Given the description of an element on the screen output the (x, y) to click on. 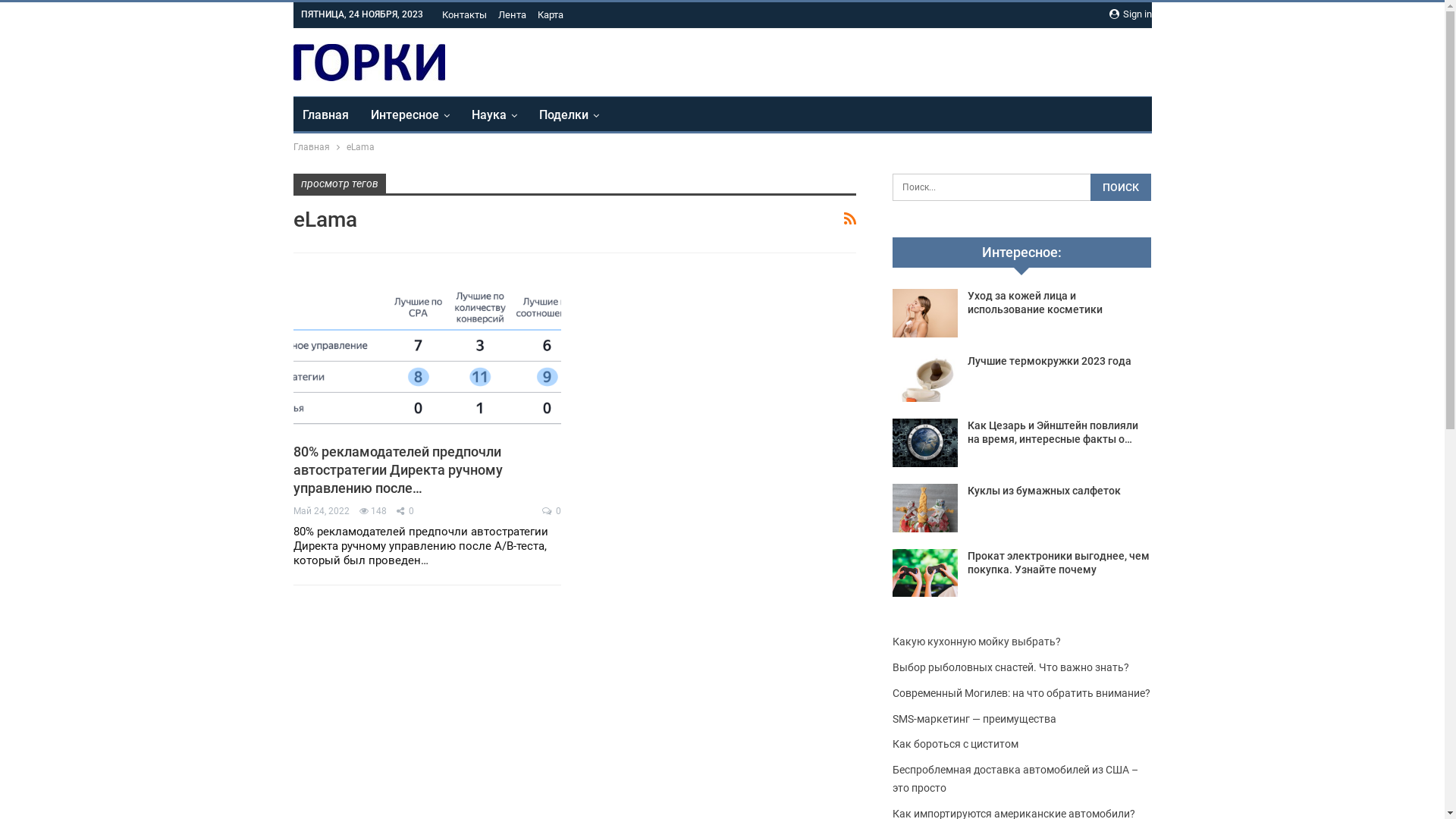
Sign in Element type: text (1129, 14)
0 Element type: text (551, 510)
